Given the description of an element on the screen output the (x, y) to click on. 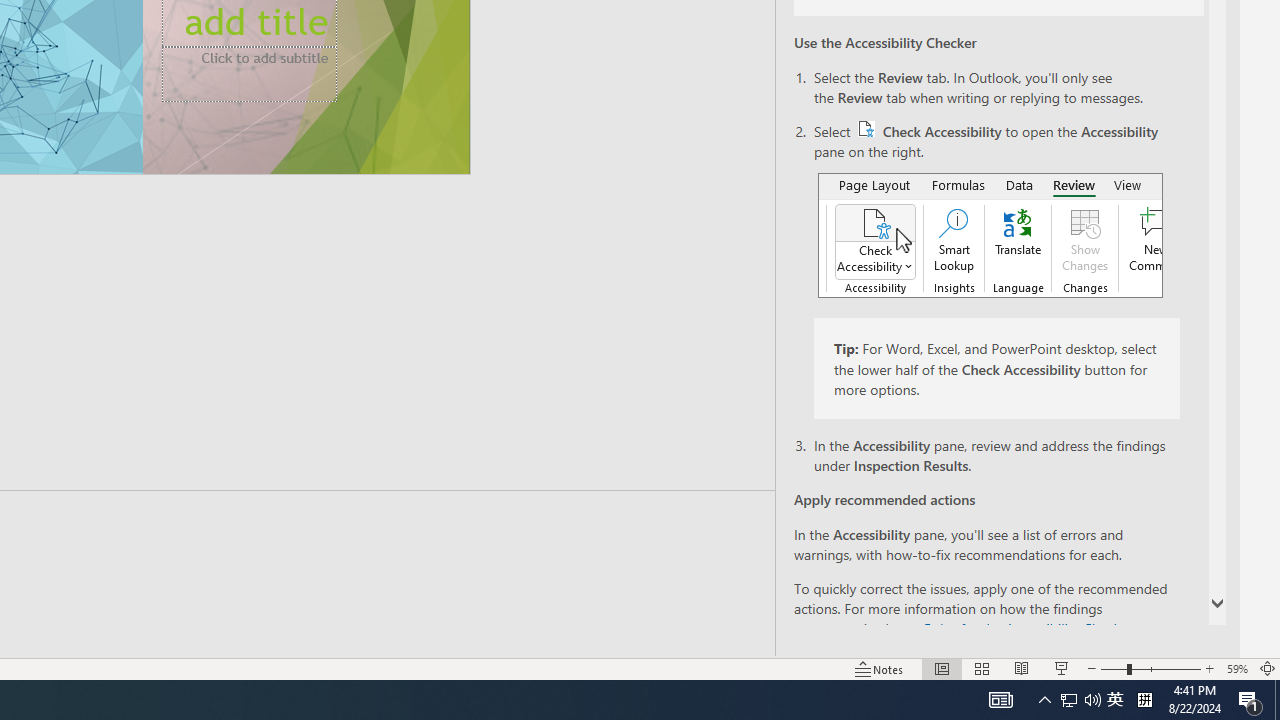
edit (1192, 126)
Something.md (1192, 259)
